Given the description of an element on the screen output the (x, y) to click on. 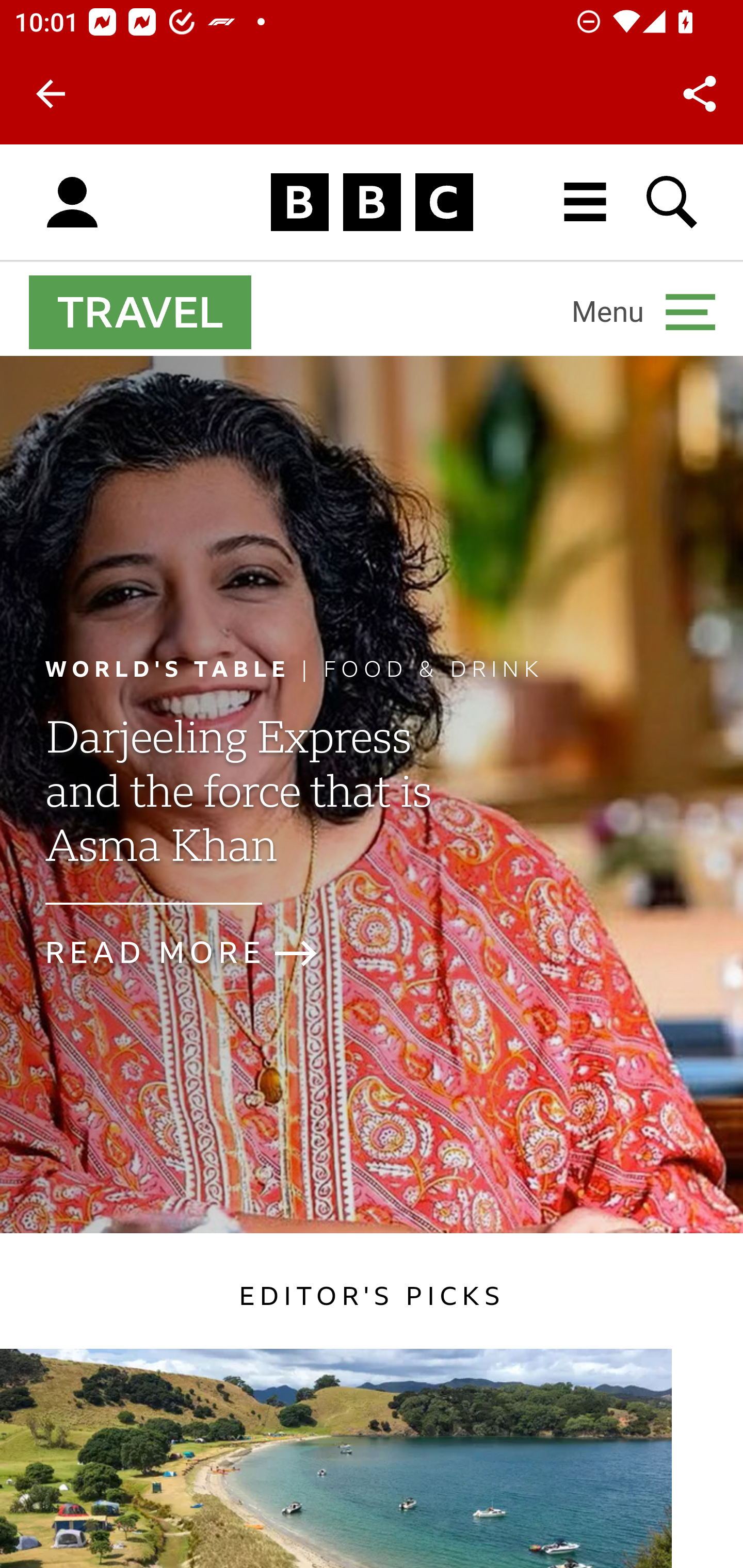
Back (50, 93)
Share (699, 93)
All BBC destinations menu (585, 202)
Search BBC (672, 202)
Sign in (71, 203)
Homepage (371, 203)
Open more navigation (643, 311)
travel (140, 311)
WORLD'S TABLE |  WORLD'S TABLE  |  (184, 668)
FOOD & DRINK (434, 668)
Darjeeling Express and the force that is Asma Khan (237, 808)
READ MORE (198, 953)
